Given the description of an element on the screen output the (x, y) to click on. 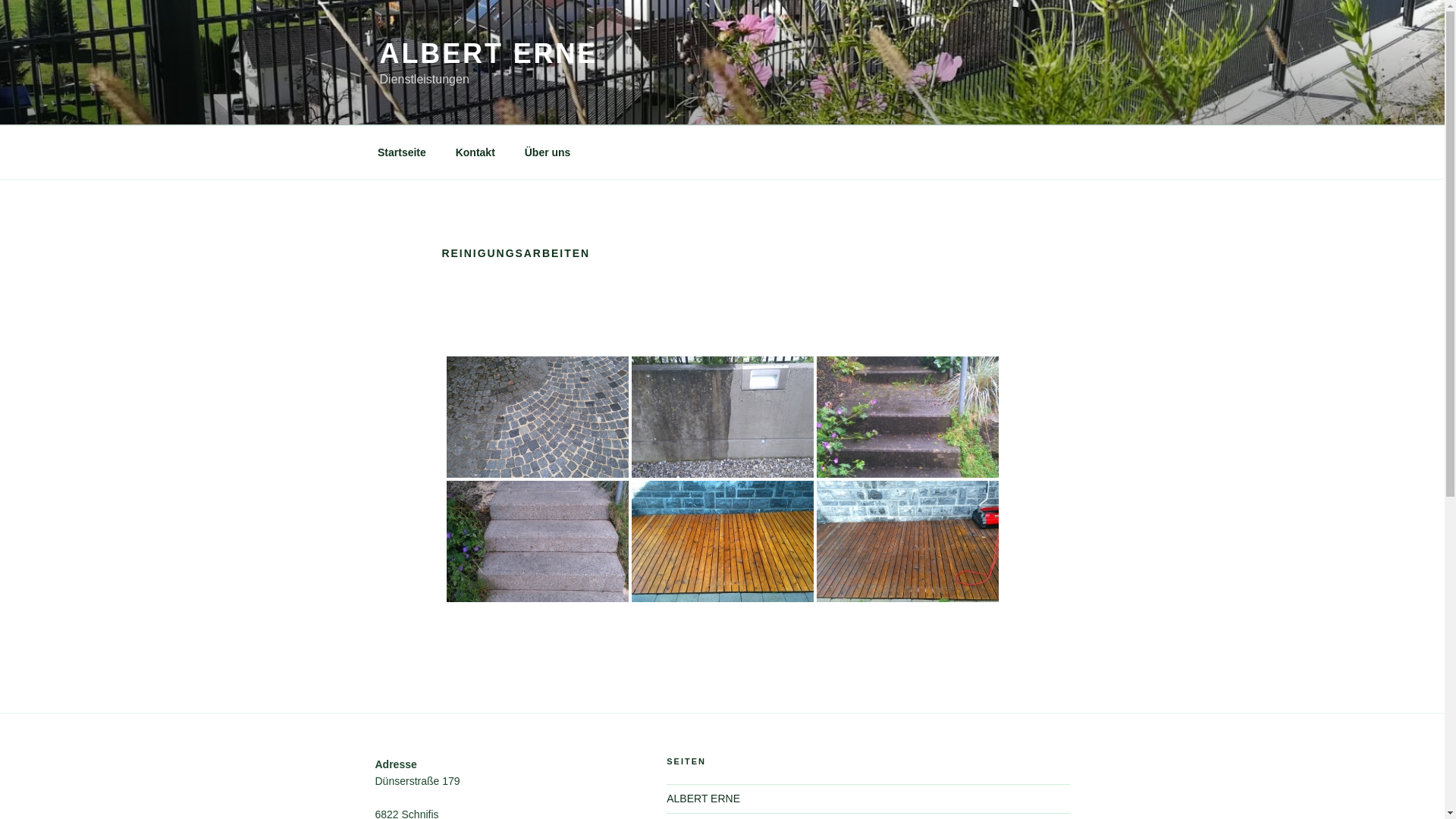
IMG-20181227-WA0012 Element type: hover (906, 541)
DSC_0001 (25) Element type: hover (536, 416)
DSC_0006 Element type: hover (536, 541)
ALBERT ERNE Element type: text (488, 53)
DSC_0005 Element type: hover (906, 416)
IMG-20181227-WA0001 Element type: hover (721, 541)
DSC_0003 Element type: hover (721, 416)
Kontakt Element type: text (475, 151)
Startseite Element type: text (401, 151)
ALBERT ERNE Element type: text (703, 798)
